Given the description of an element on the screen output the (x, y) to click on. 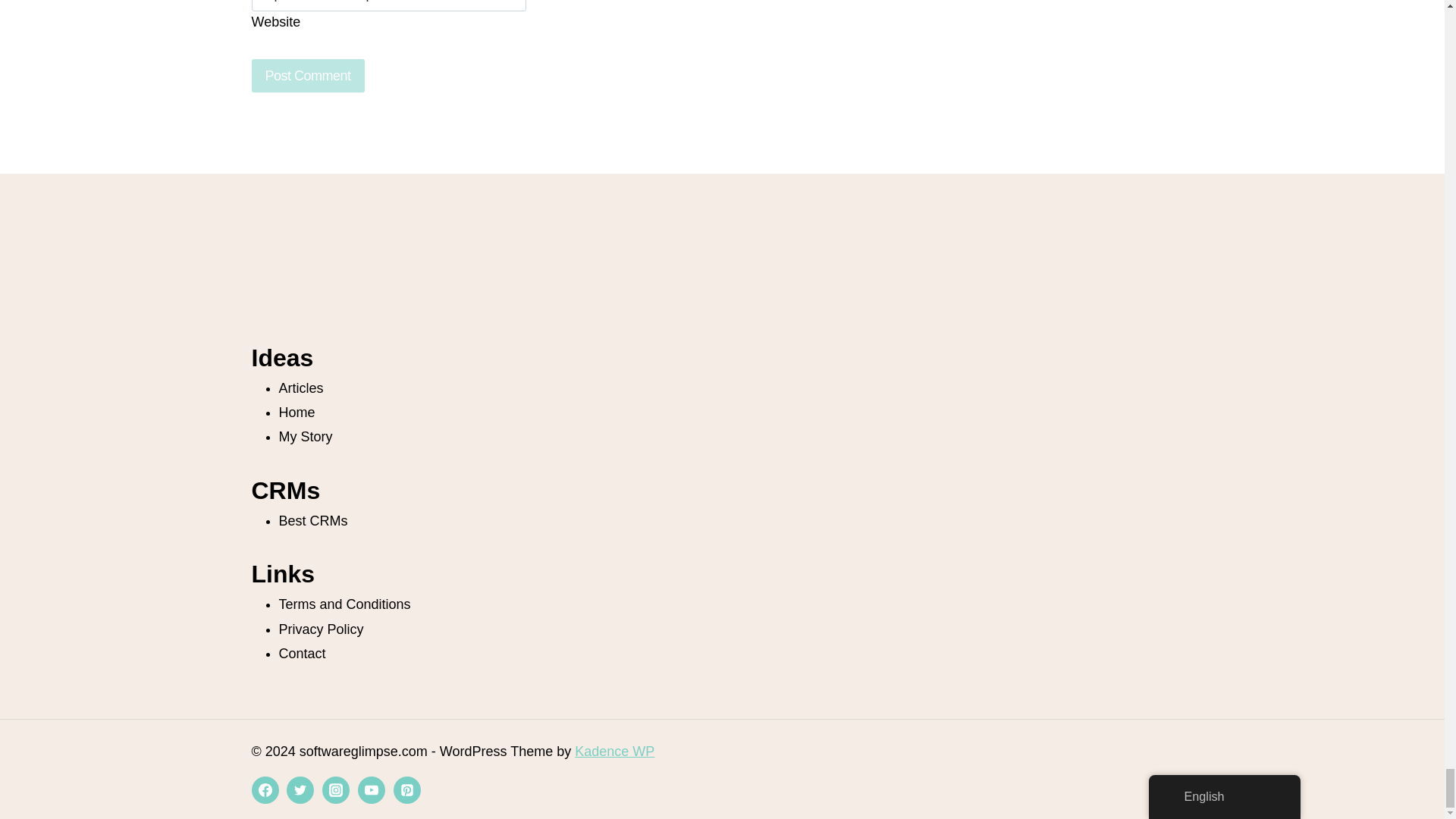
Post Comment (308, 74)
